Given the description of an element on the screen output the (x, y) to click on. 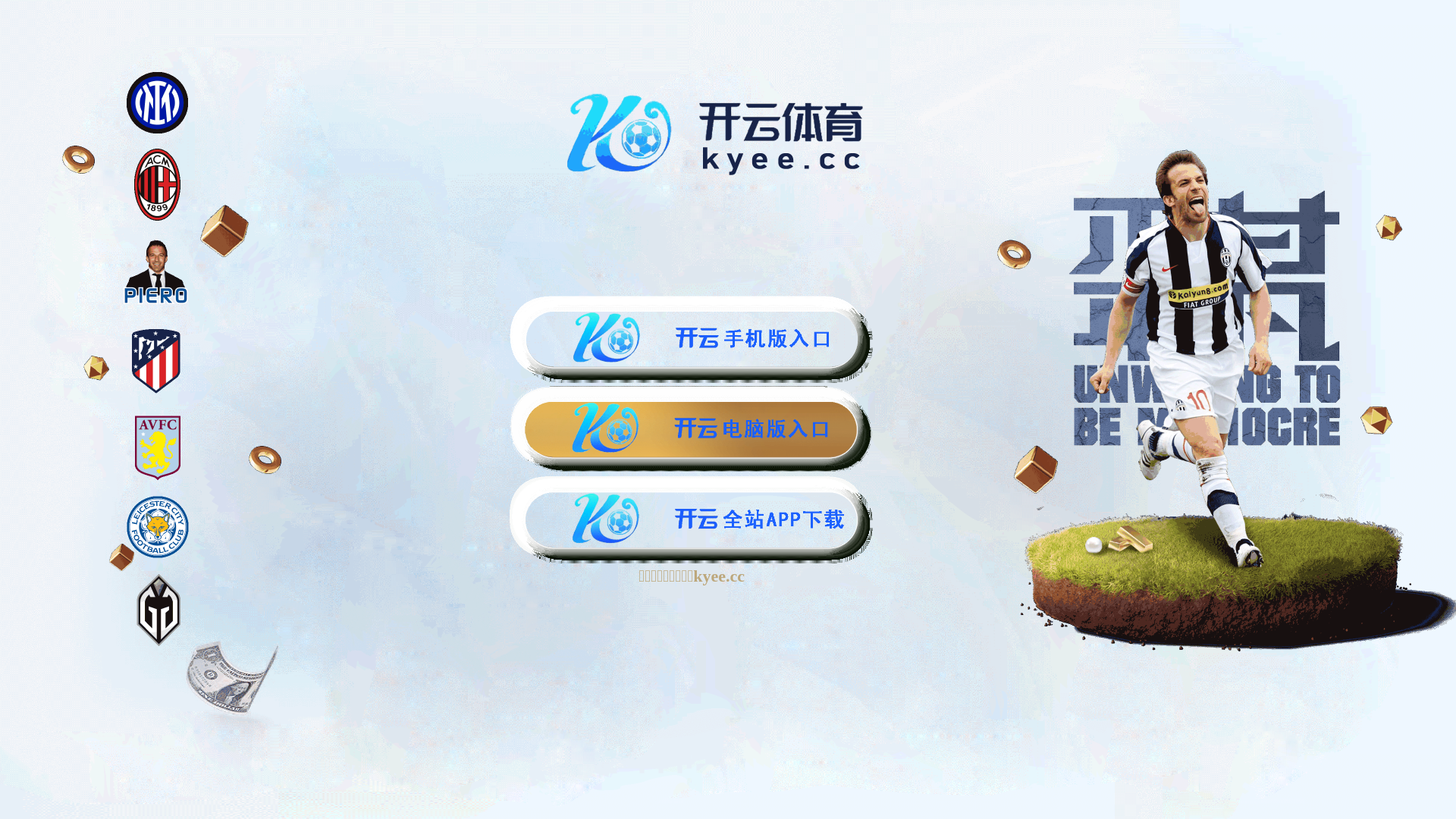
Toggle navigation Element type: text (51, 93)
